Given the description of an element on the screen output the (x, y) to click on. 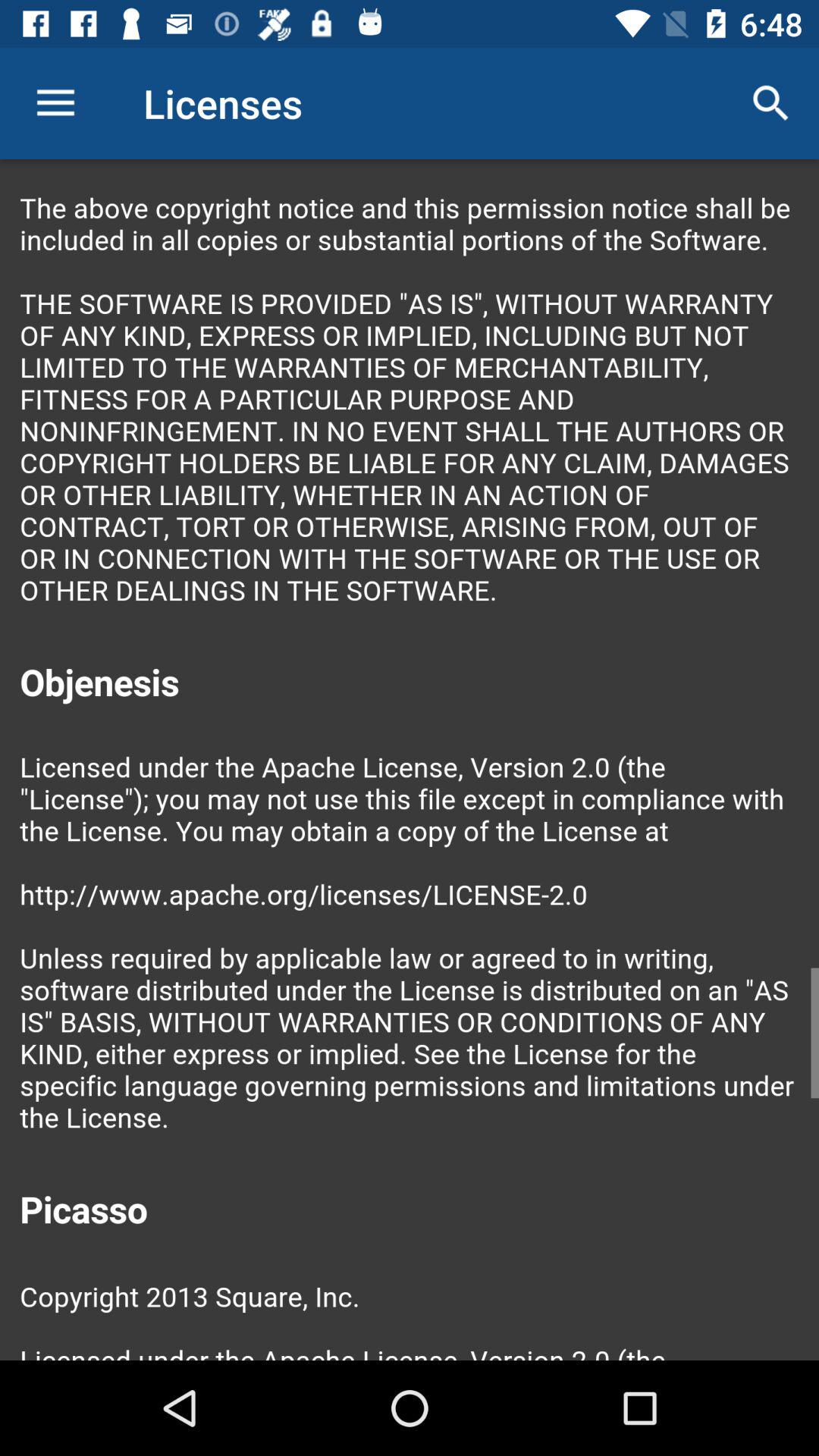
colour pinter (409, 759)
